Given the description of an element on the screen output the (x, y) to click on. 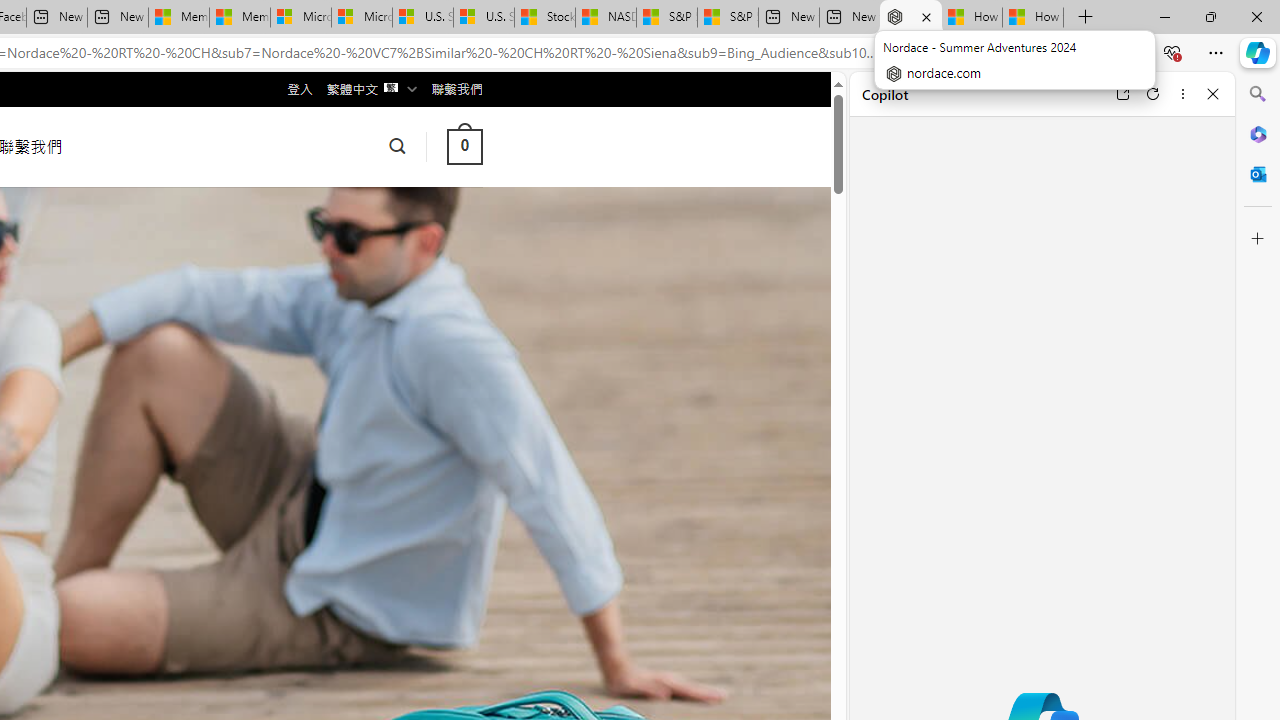
Open link in new tab (1122, 93)
  0   (464, 146)
This site has coupons! Shopping in Microsoft Edge (950, 53)
 0  (464, 146)
Show translate options (910, 53)
